Given the description of an element on the screen output the (x, y) to click on. 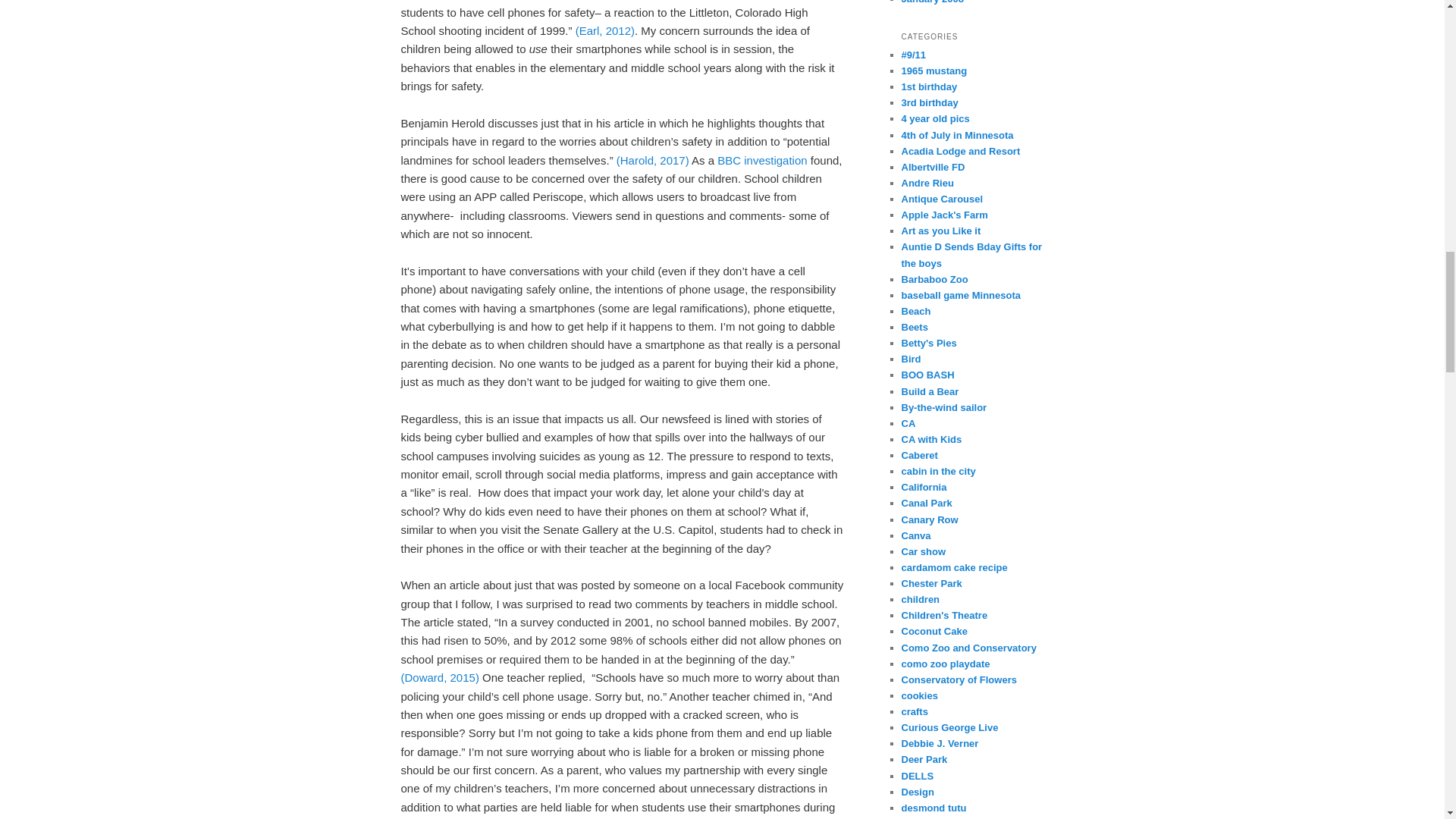
BBC investigation (761, 160)
